Given the description of an element on the screen output the (x, y) to click on. 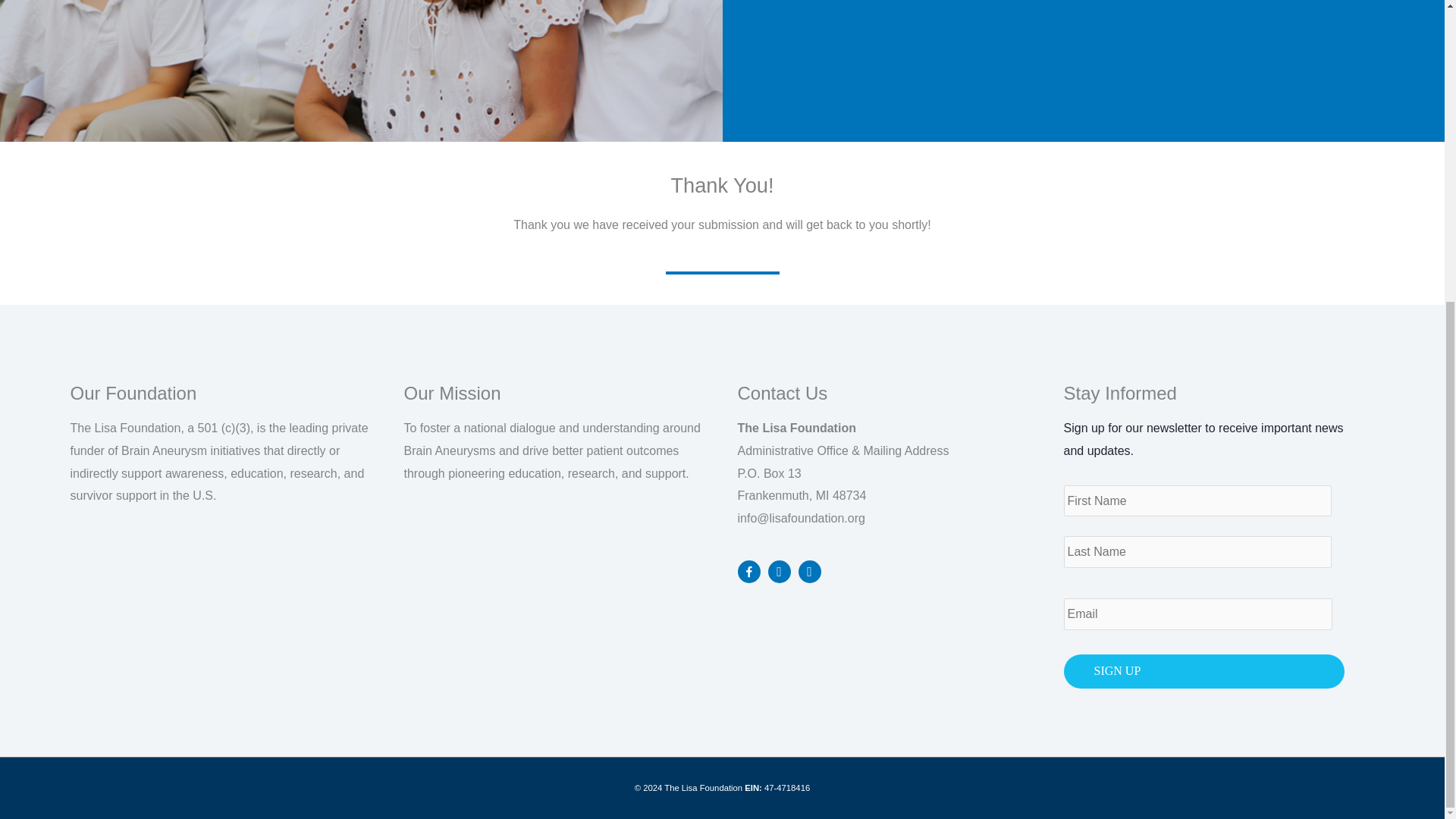
Sign Up (1202, 671)
